Given the description of an element on the screen output the (x, y) to click on. 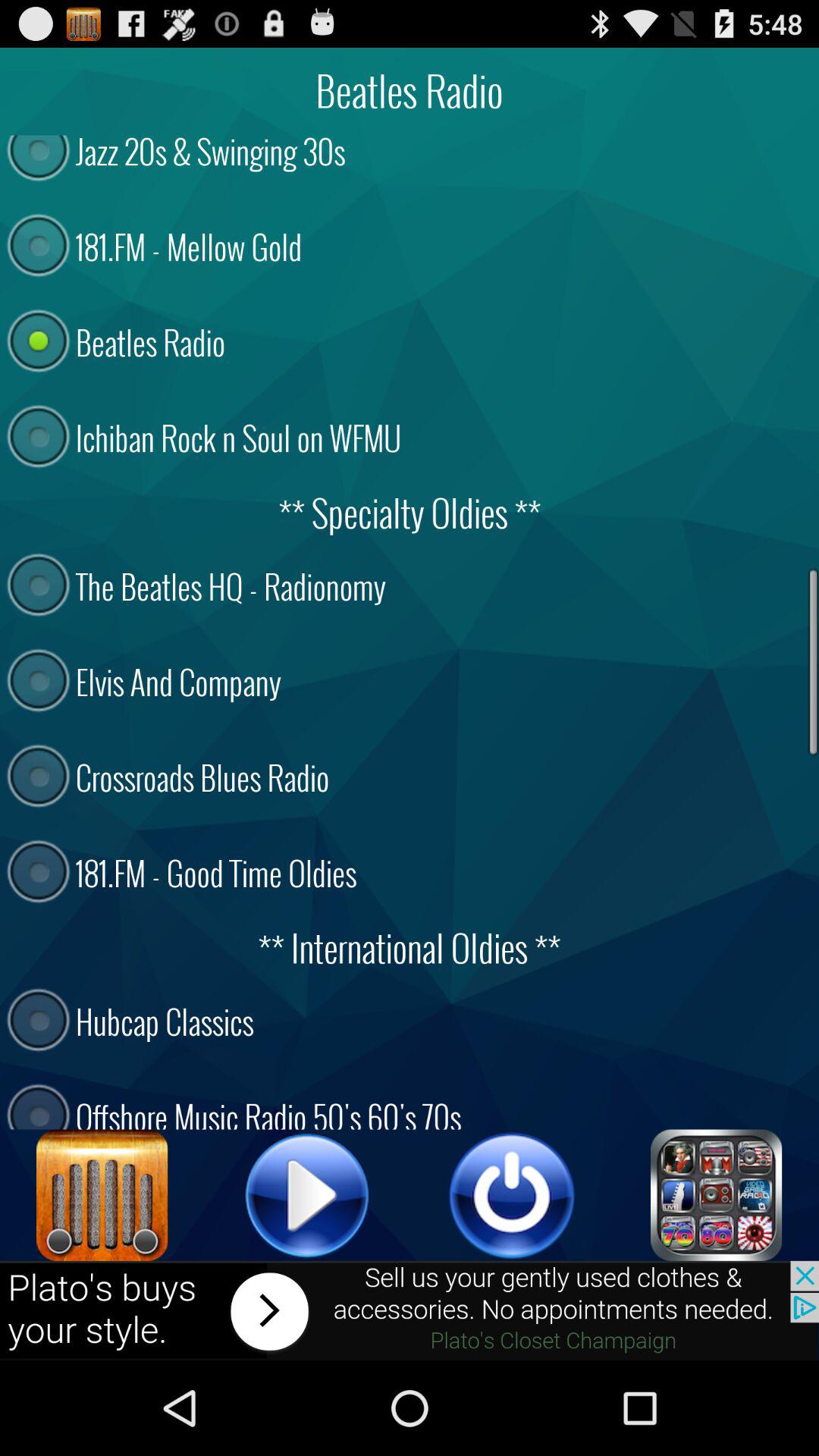
open radio settings (102, 1194)
